Given the description of an element on the screen output the (x, y) to click on. 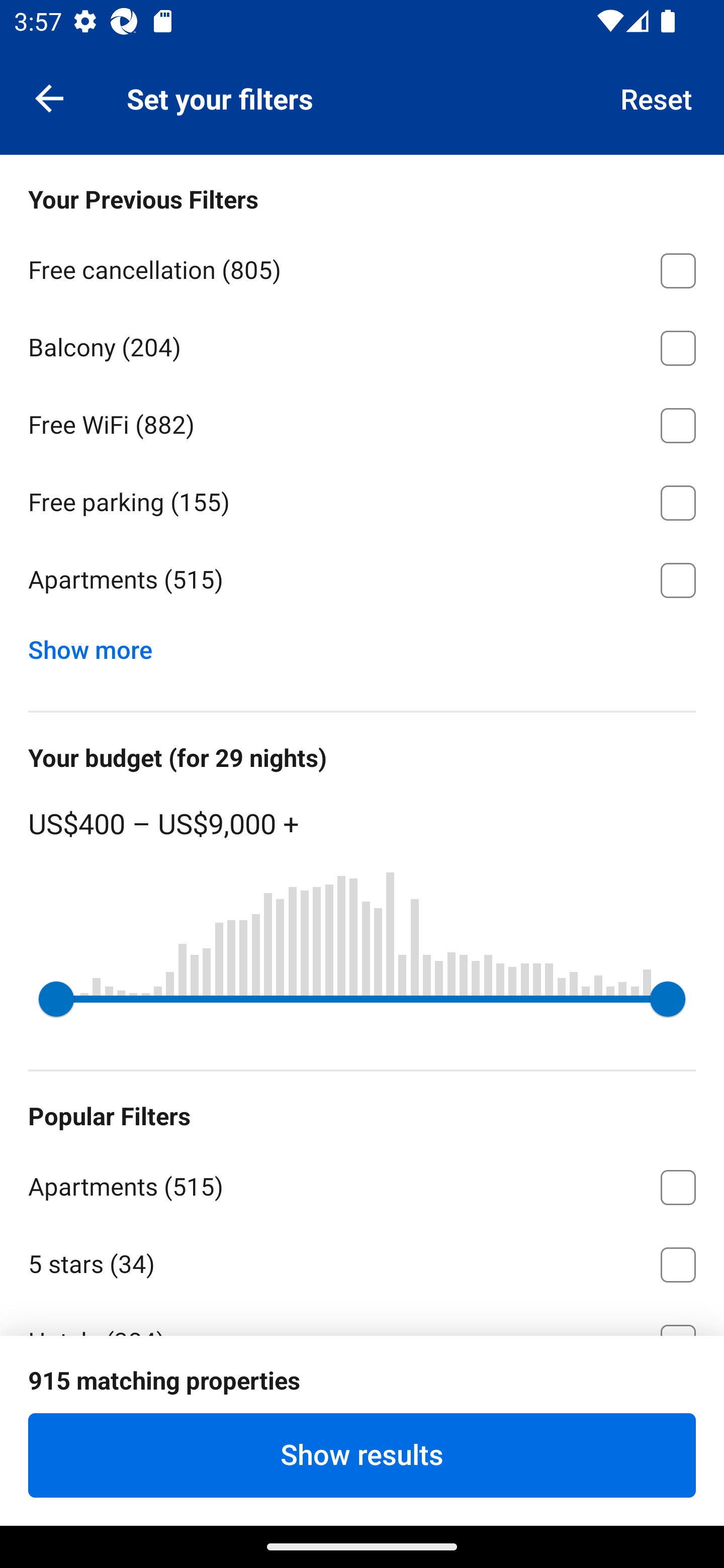
Navigate up (49, 97)
Reset (656, 97)
Free cancellation ⁦(805) (361, 266)
Balcony ⁦(204) (361, 344)
Free WiFi ⁦(882) (361, 422)
Free parking ⁦(155) (361, 498)
Apartments ⁦(515) (361, 579)
Show more (97, 645)
Apartments ⁦(515) (361, 1183)
5 stars ⁦(34) (361, 1261)
Show results (361, 1454)
